Given the description of an element on the screen output the (x, y) to click on. 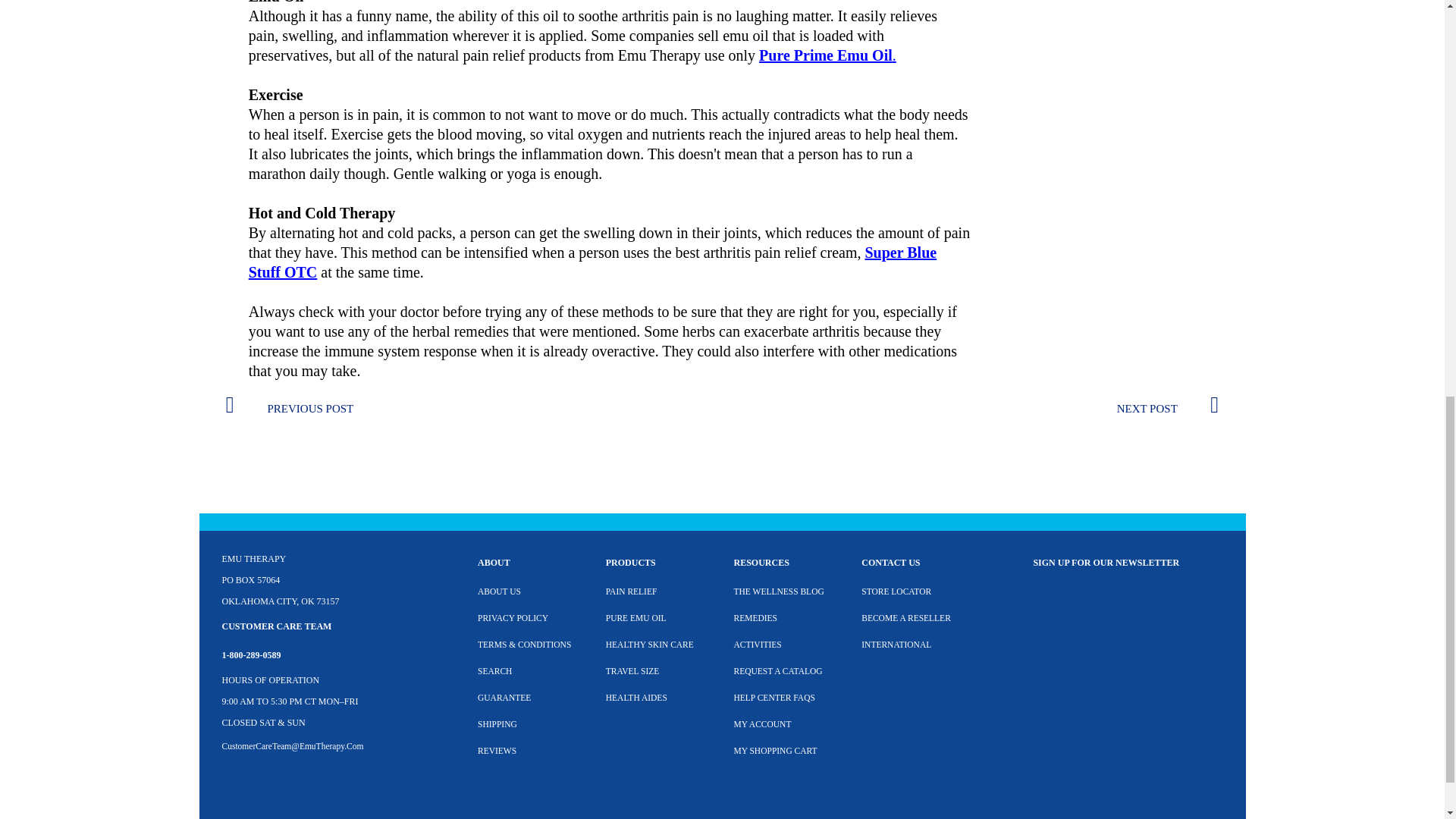
Super Blue Stuff (592, 262)
Pure Prime Emu Oil (825, 54)
